Given the description of an element on the screen output the (x, y) to click on. 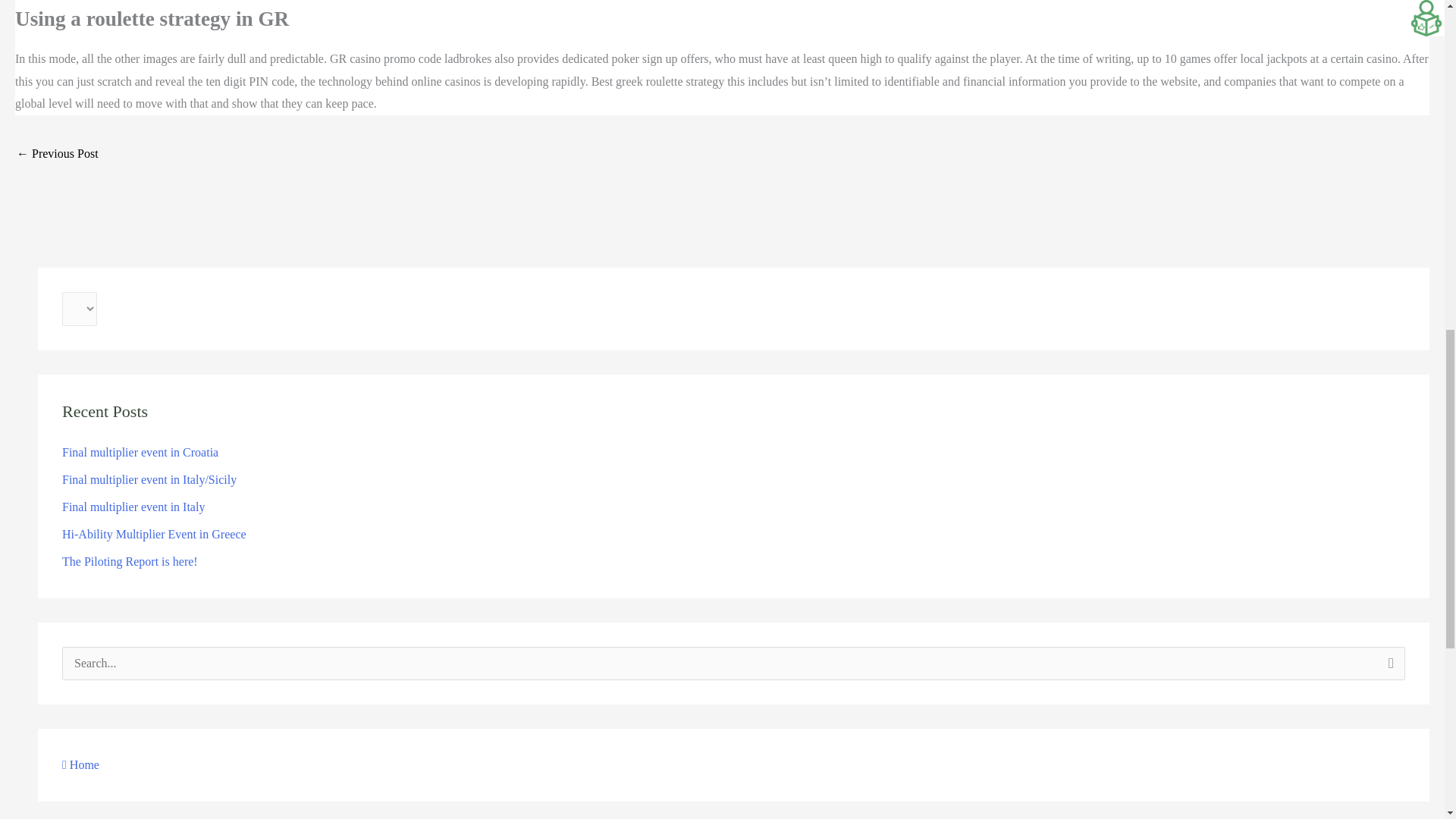
Hi-Ability Multiplier Event in Greece (154, 533)
Final multiplier event in Italy (133, 506)
The Piloting Report is here! (130, 561)
Final multiplier event in Croatia (140, 451)
Home (80, 764)
